Given the description of an element on the screen output the (x, y) to click on. 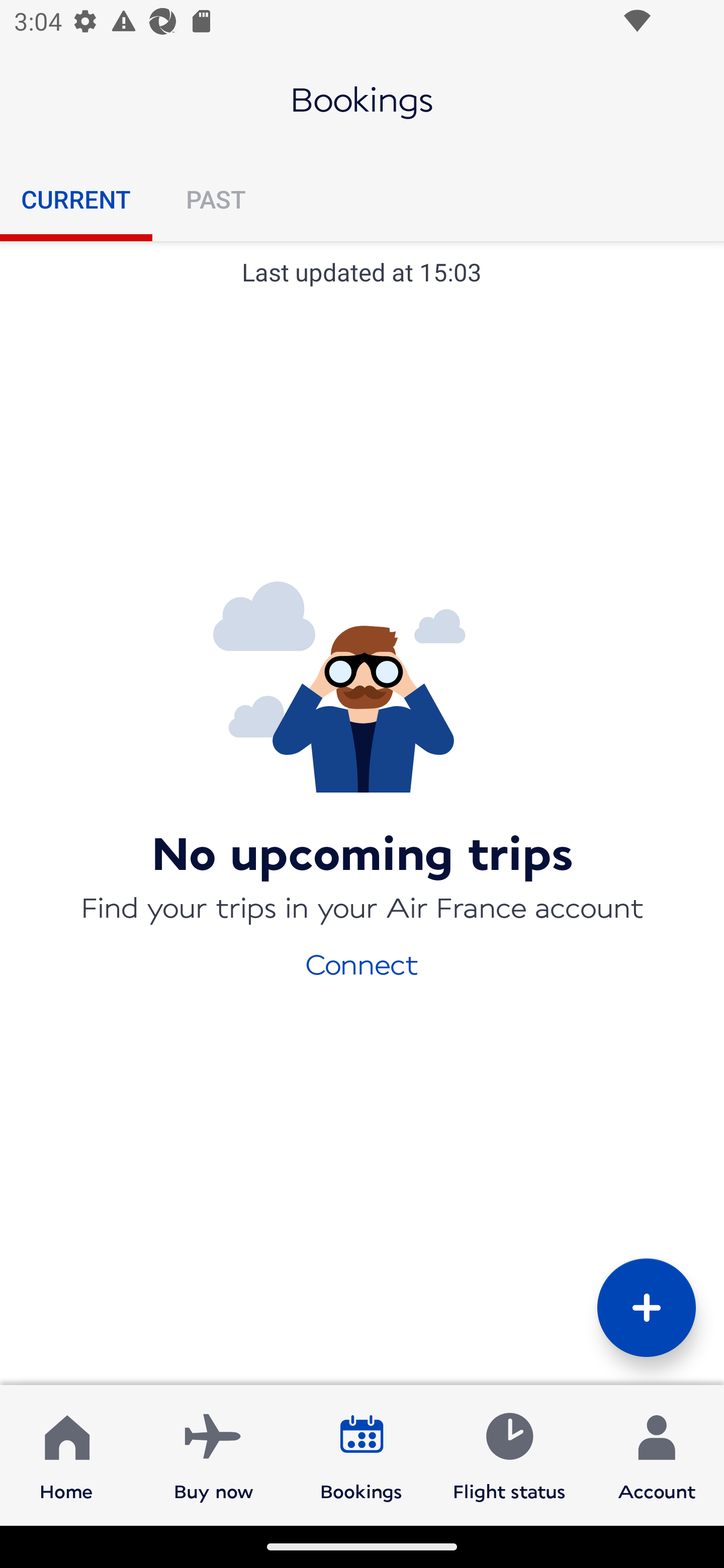
PAST (215, 198)
Connect (361, 963)
Home (66, 1454)
Buy now (213, 1454)
Flight status (509, 1454)
Account (657, 1454)
